Given the description of an element on the screen output the (x, y) to click on. 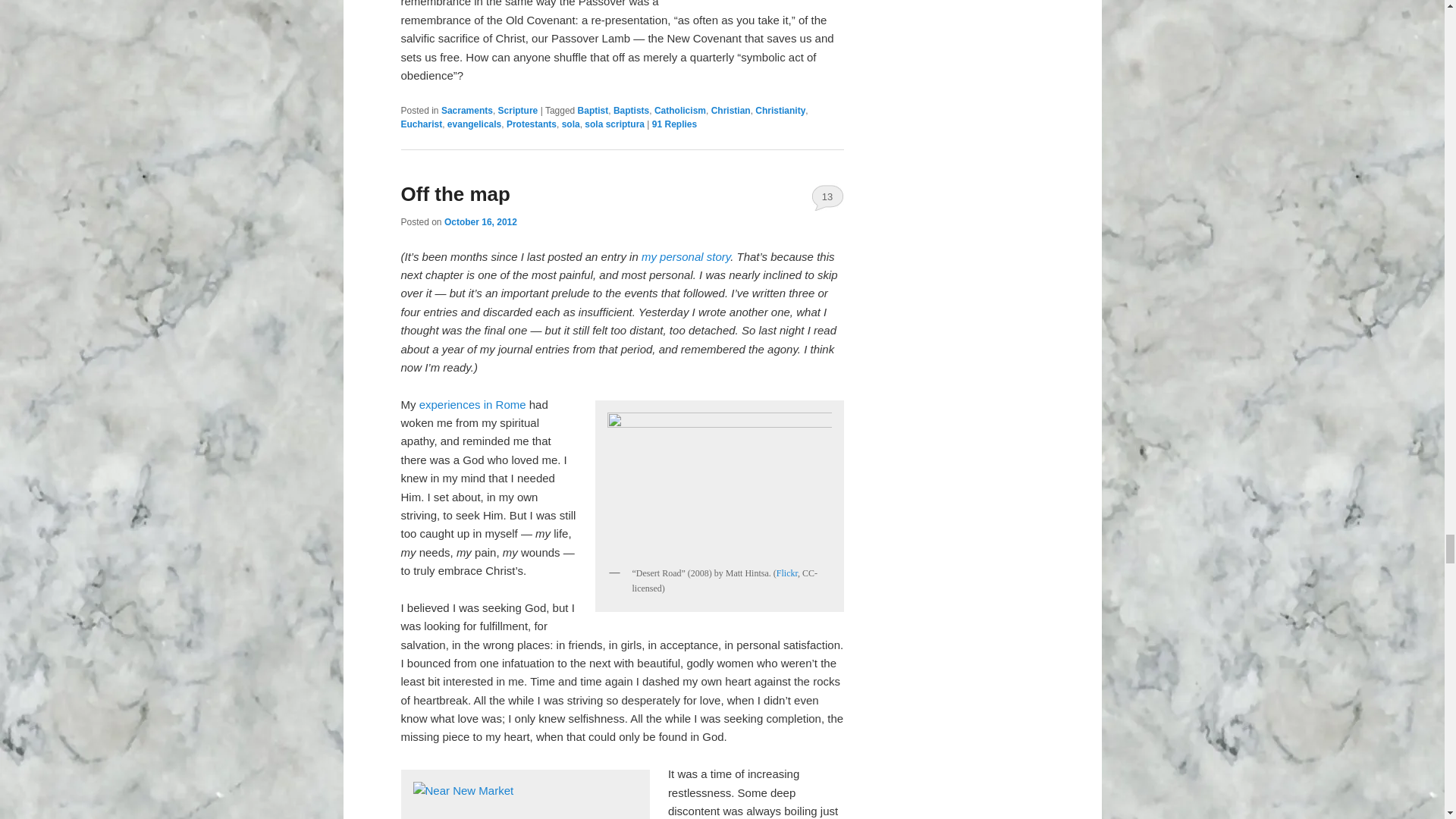
4:00 pm (480, 222)
Near New Market (525, 797)
"Desert Road" by Matt Hintsa (719, 482)
